Given the description of an element on the screen output the (x, y) to click on. 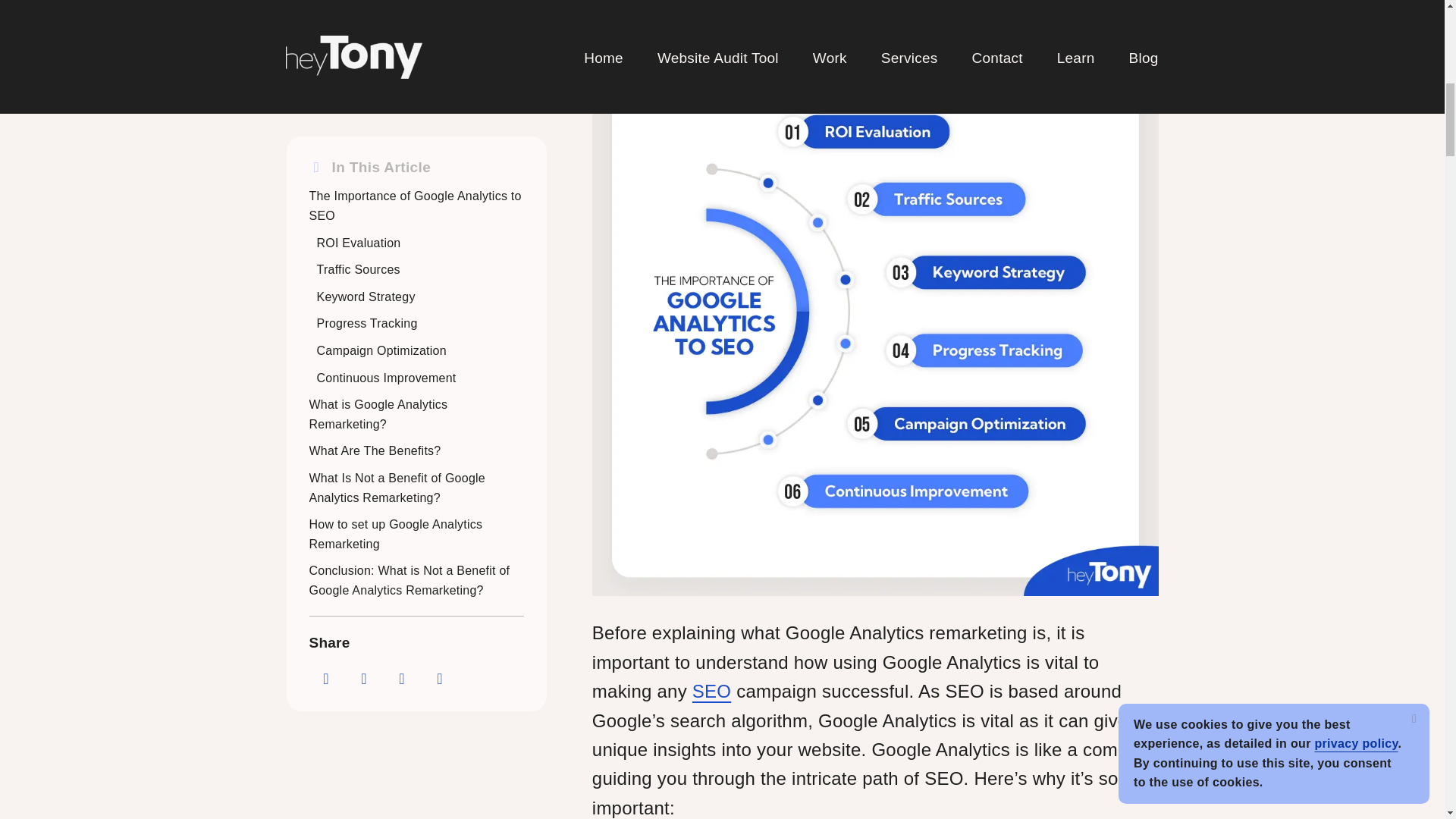
LinkedIn (402, 228)
Email (440, 228)
How to set up Google Analytics Remarketing (395, 83)
Twitter (364, 228)
What Is Not a Benefit of Google Analytics Remarketing? (396, 37)
What Are The Benefits? (374, 3)
Facebook (325, 228)
SEO (711, 690)
